Given the description of an element on the screen output the (x, y) to click on. 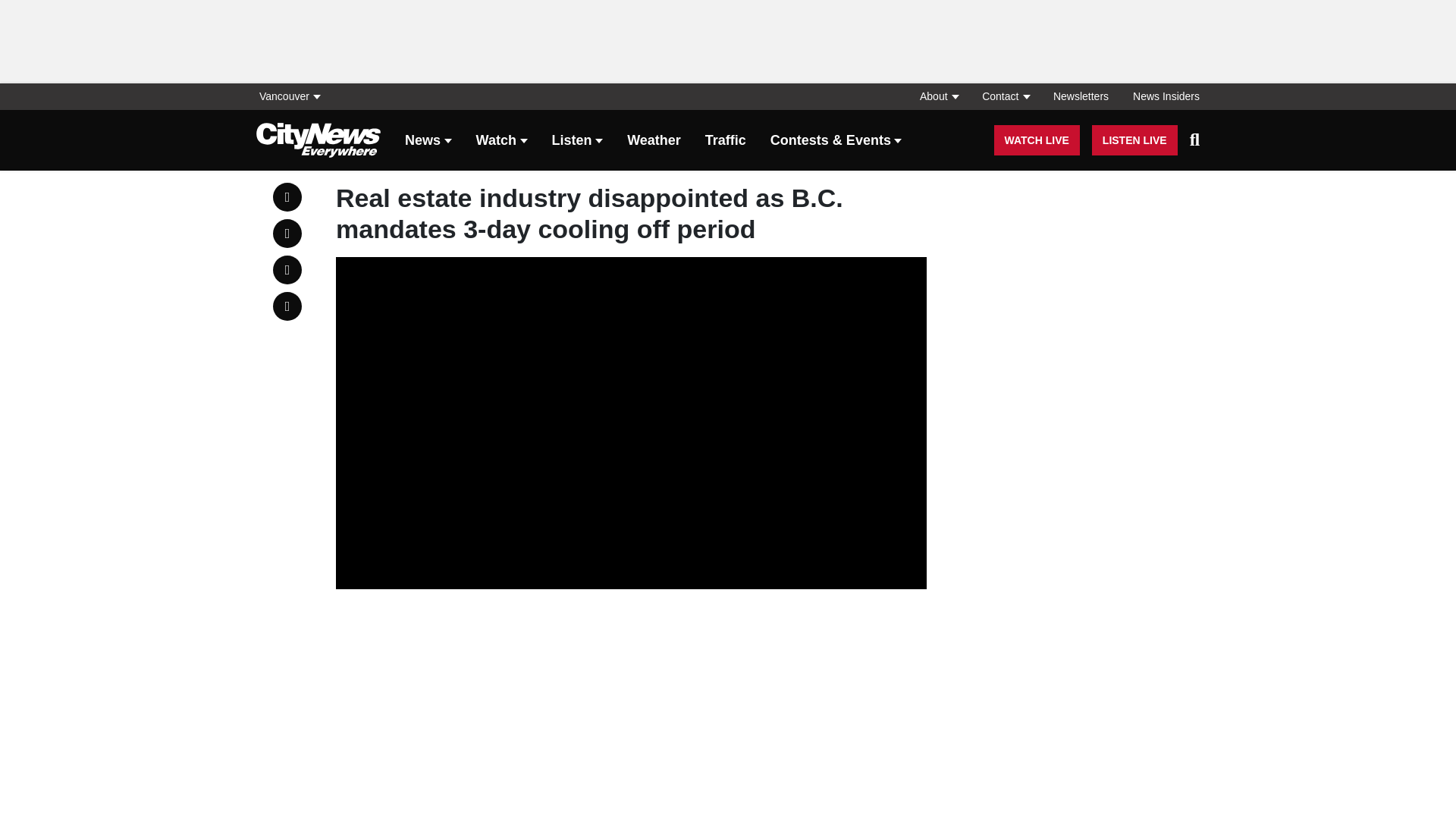
Newsletters (1081, 96)
Watch (501, 140)
Vancouver (293, 96)
Contact (1005, 96)
News Insiders (1160, 96)
About (938, 96)
Listen (577, 140)
News (427, 140)
